Given the description of an element on the screen output the (x, y) to click on. 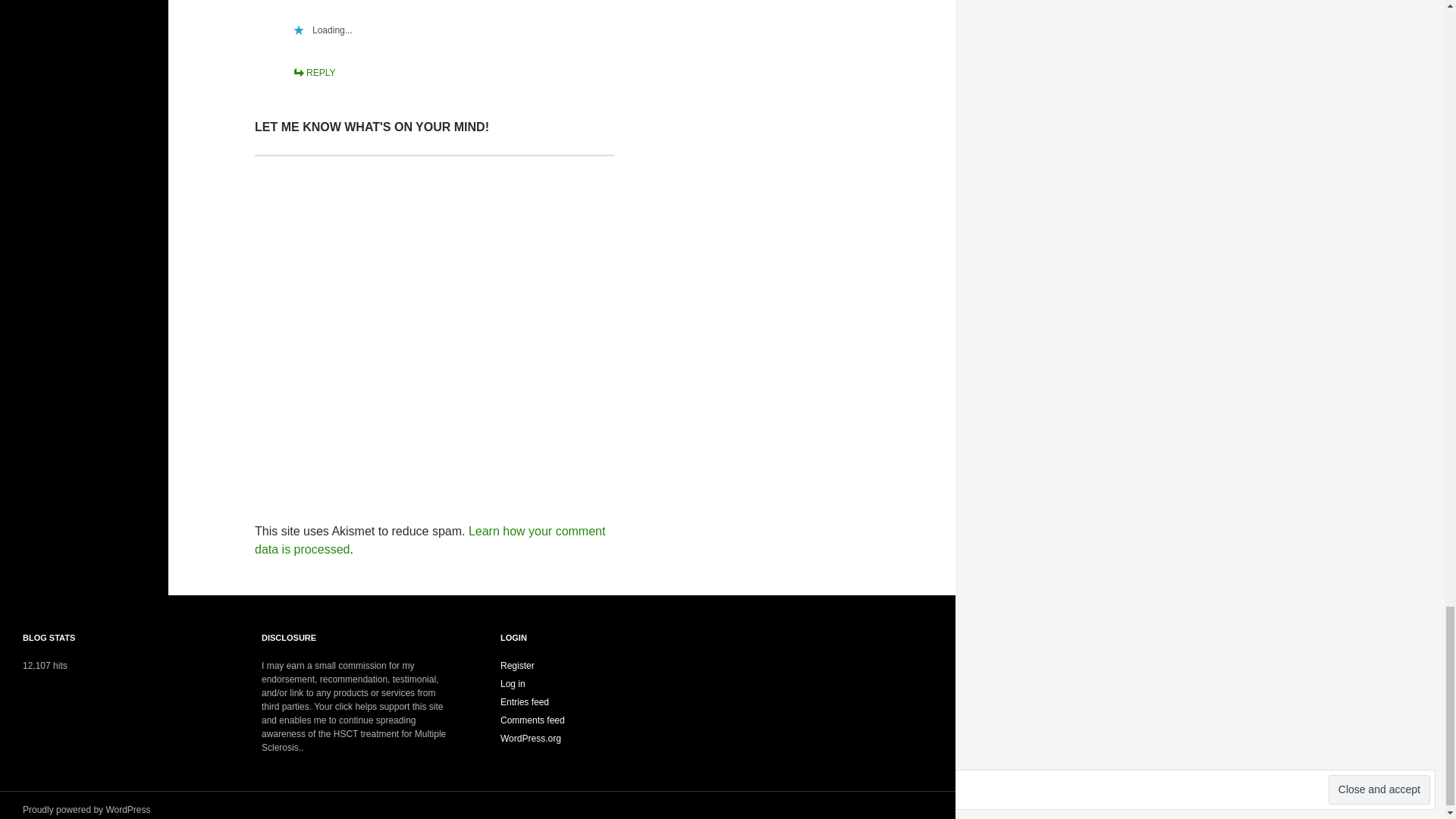
REPLY (313, 72)
Comment Form (434, 317)
Learn how your comment data is processed (429, 540)
